Given the description of an element on the screen output the (x, y) to click on. 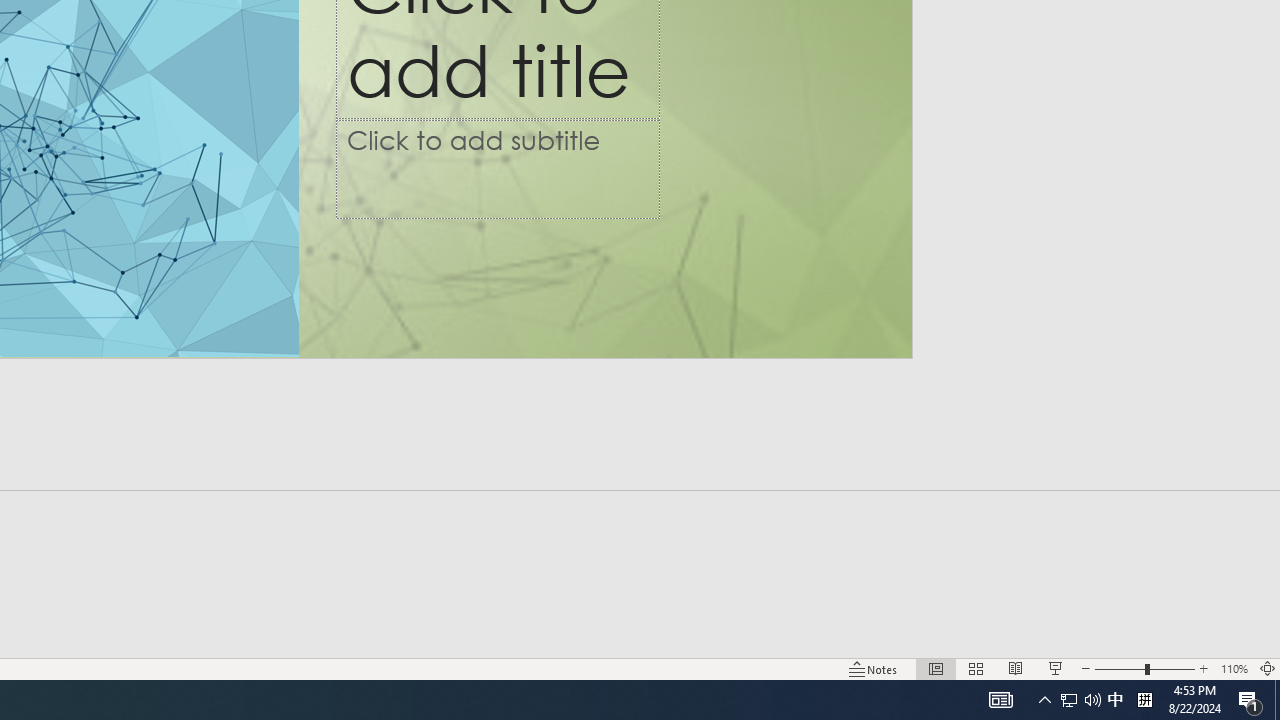
Zoom 110% (1234, 668)
